Given the description of an element on the screen output the (x, y) to click on. 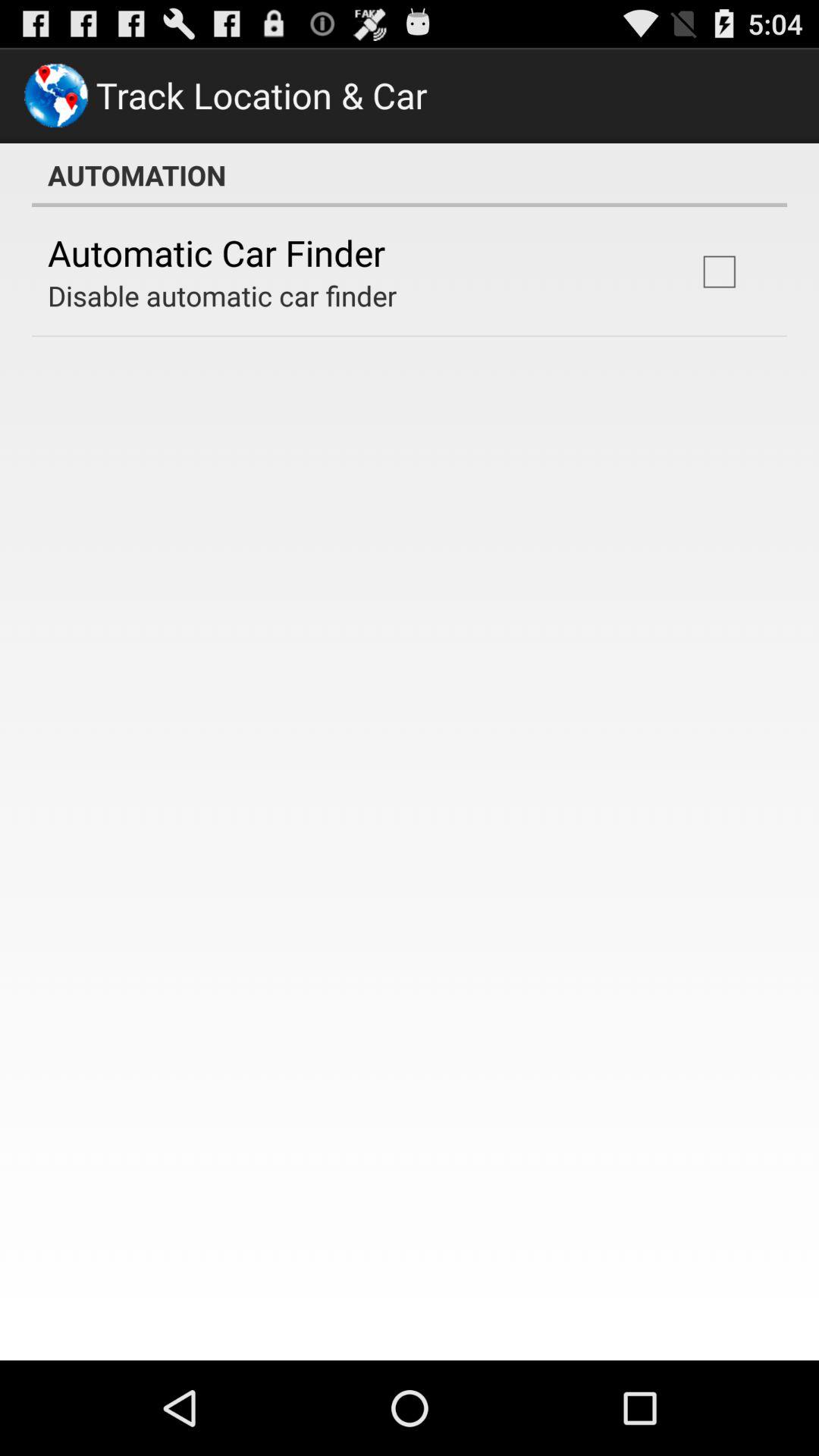
click icon next to disable automatic car app (719, 271)
